Given the description of an element on the screen output the (x, y) to click on. 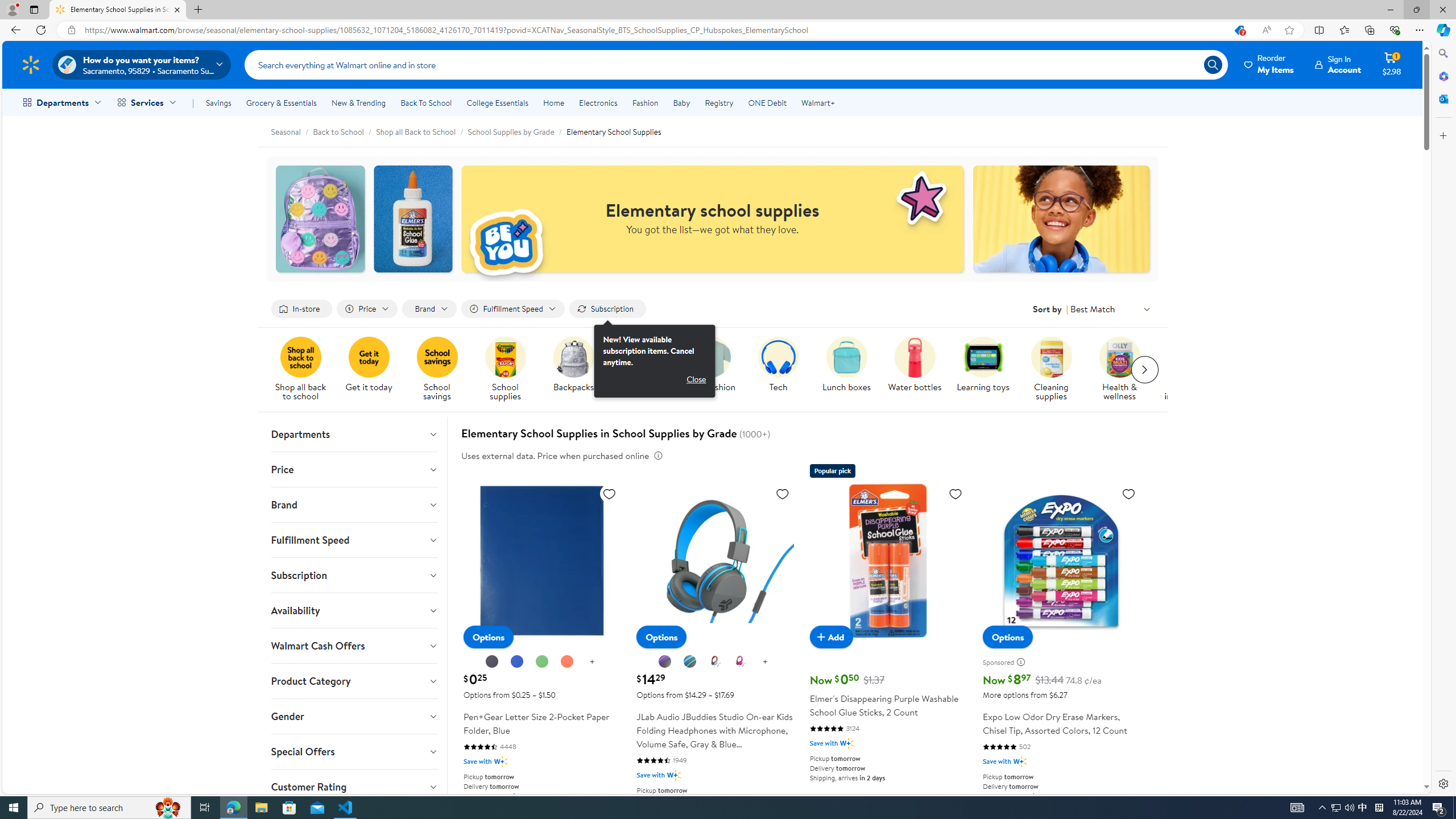
Departments (354, 434)
Customer Rating (354, 787)
Departments (354, 434)
School savings (441, 369)
Availability (354, 610)
A red water bottle is on display. Water bottles (914, 364)
Grocery & Essentials (280, 102)
Electronics (598, 102)
Gray (690, 662)
Elementary School Supplies (613, 131)
Water bottles (919, 369)
